Given the description of an element on the screen output the (x, y) to click on. 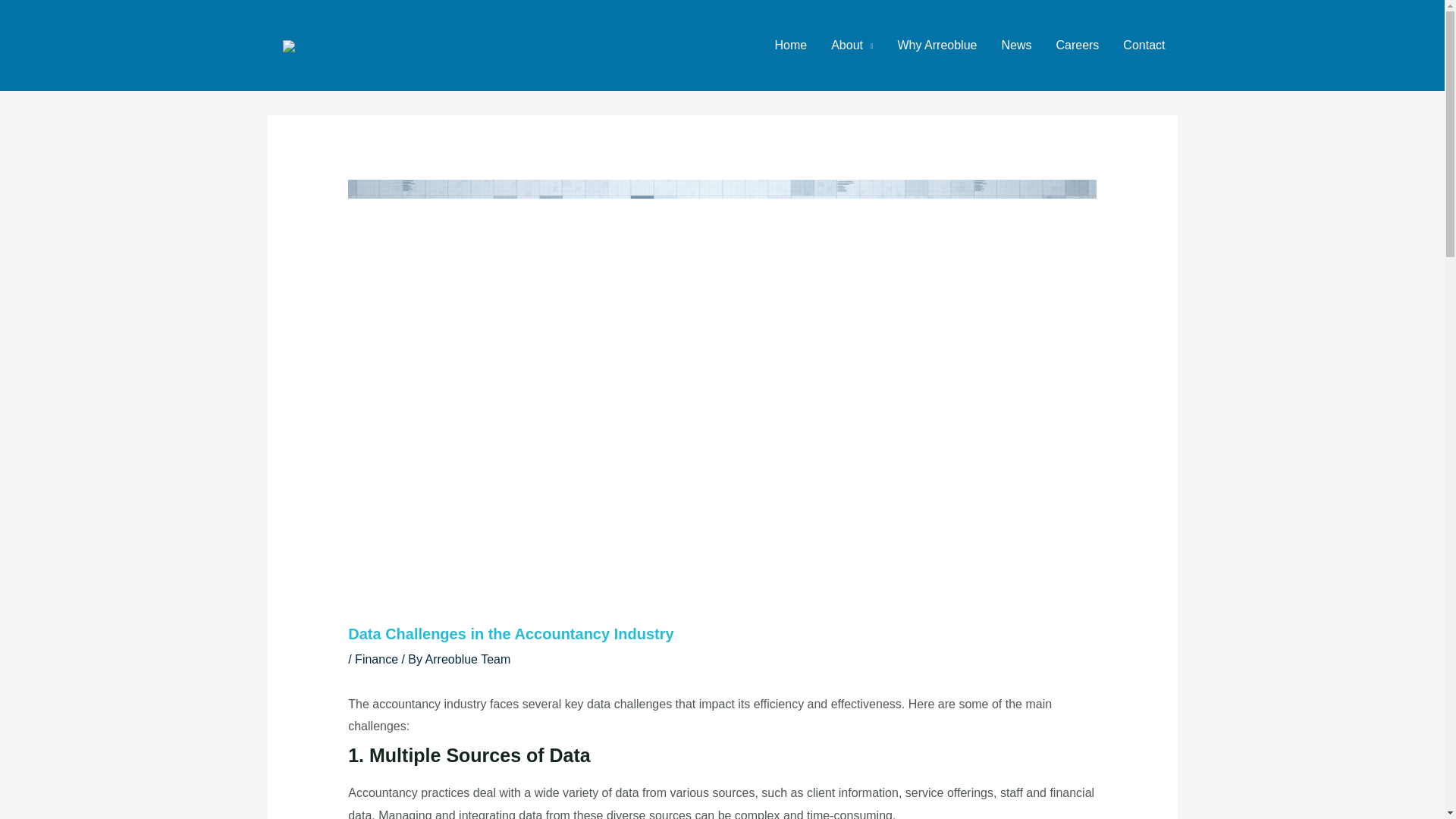
Why Arreoblue (937, 45)
View all posts by Arreoblue Team (468, 658)
Finance (376, 658)
